Given the description of an element on the screen output the (x, y) to click on. 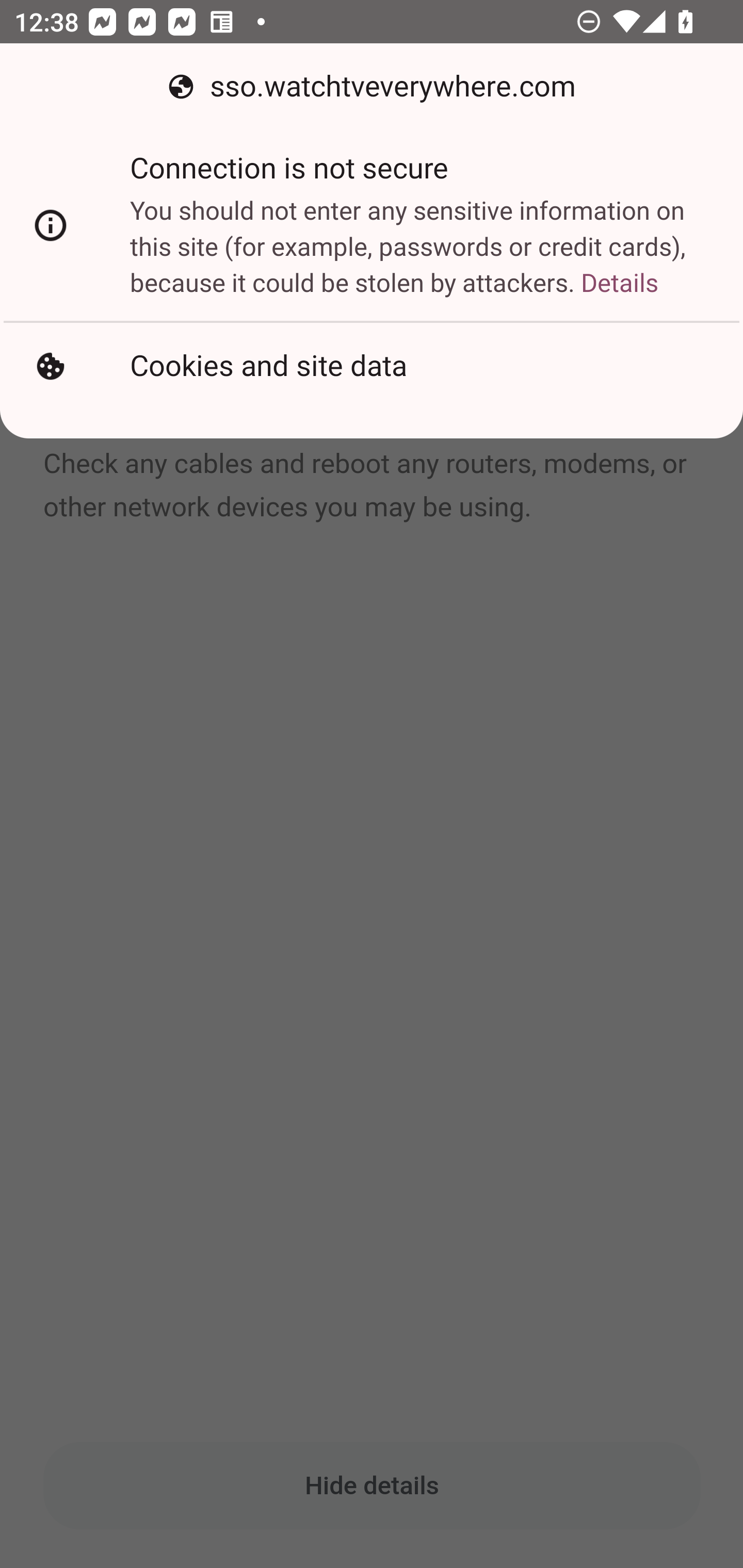
sso.watchtveverywhere.com (371, 86)
Cookies and site data (371, 366)
